Given the description of an element on the screen output the (x, y) to click on. 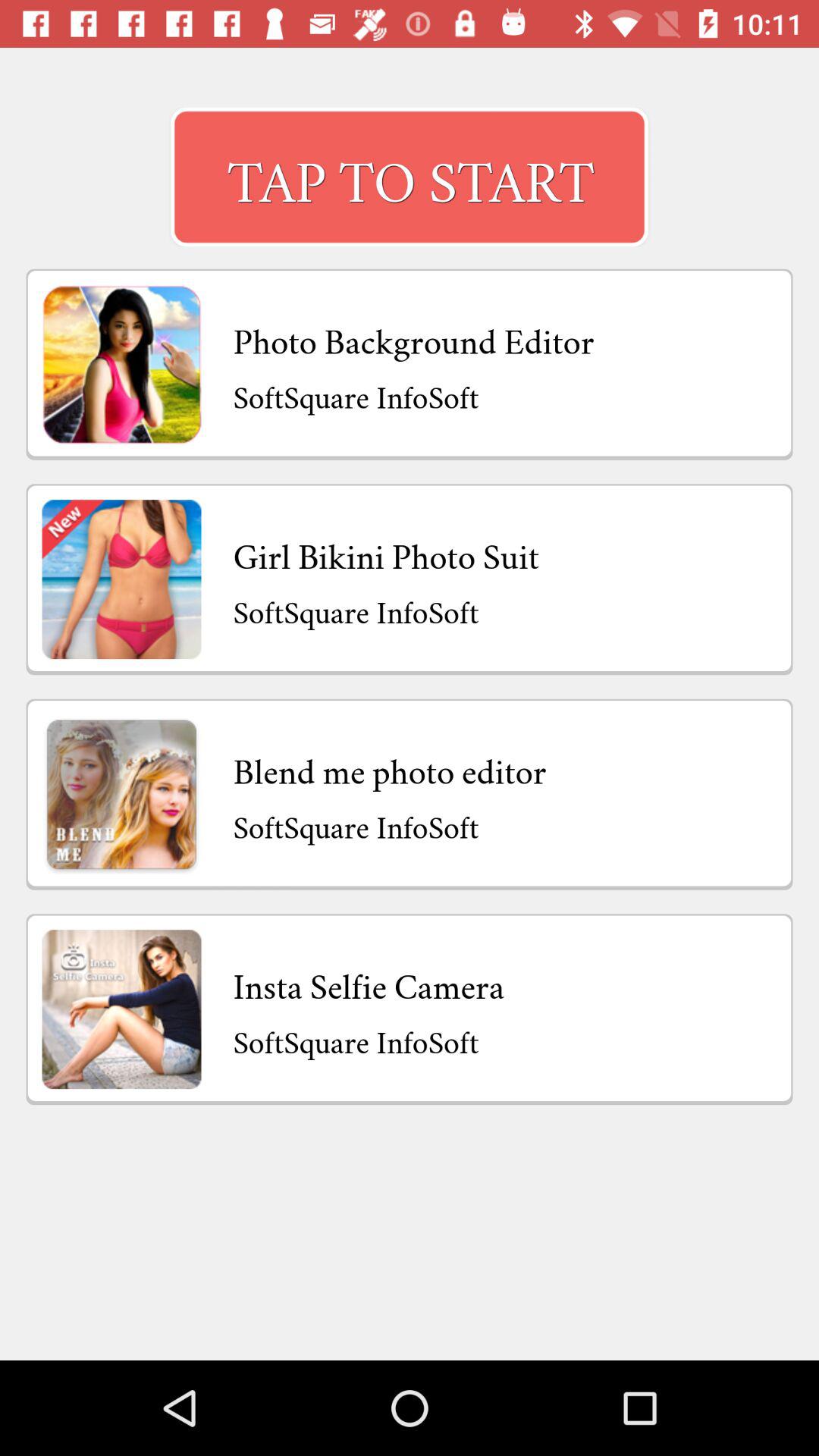
launch the blend me photo item (389, 767)
